Given the description of an element on the screen output the (x, y) to click on. 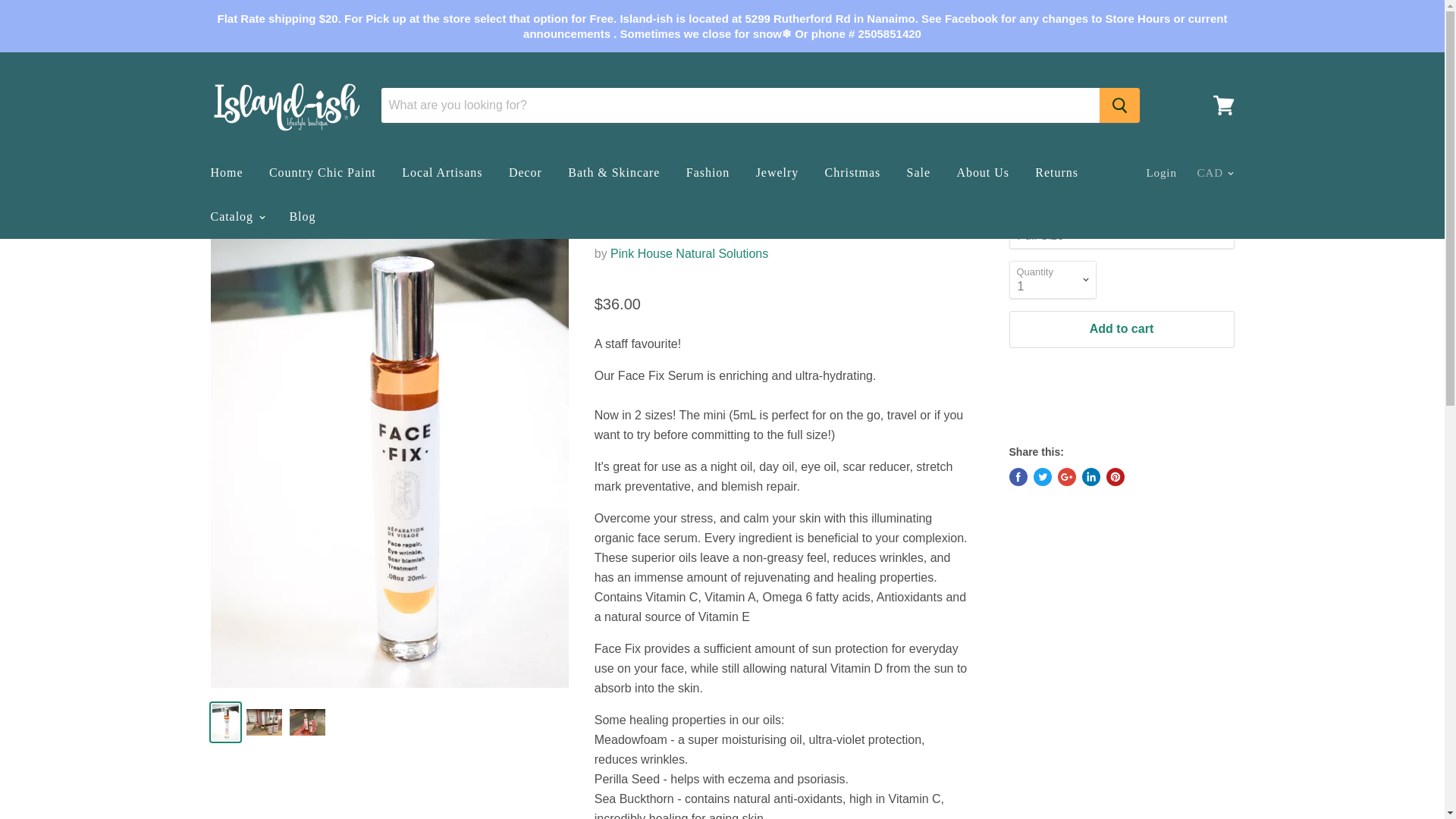
Catalog (235, 216)
Sale (918, 173)
Pink House Natural Solutions (689, 253)
Home (225, 173)
Jewelry (776, 173)
Local Artisans (441, 173)
Decor (525, 173)
Country Chic Paint (322, 173)
About Us (982, 173)
Returns (1056, 173)
Fashion (708, 173)
View cart (1223, 104)
Christmas (852, 173)
